Given the description of an element on the screen output the (x, y) to click on. 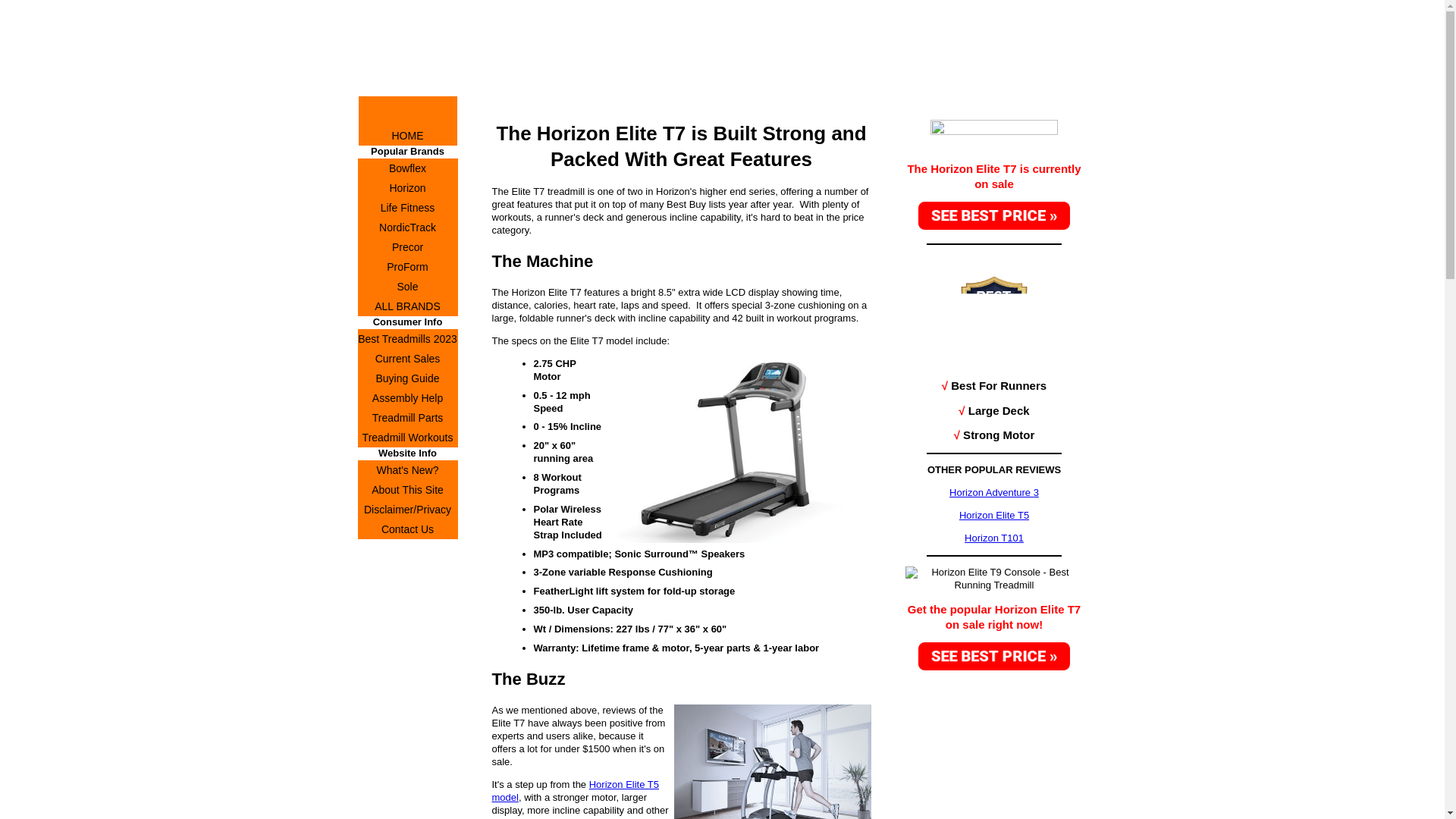
Horizon Elite T5 model (575, 790)
Contact Us (408, 528)
Horizon Elite T7 Treadmill (738, 449)
Horizon Adventure 3 (994, 491)
NordicTrack (408, 227)
See Best Price (994, 215)
Horizon (408, 188)
See Best Price (994, 655)
ALL BRANDS (408, 306)
Best Treadmills 2023 (408, 338)
